Given the description of an element on the screen output the (x, y) to click on. 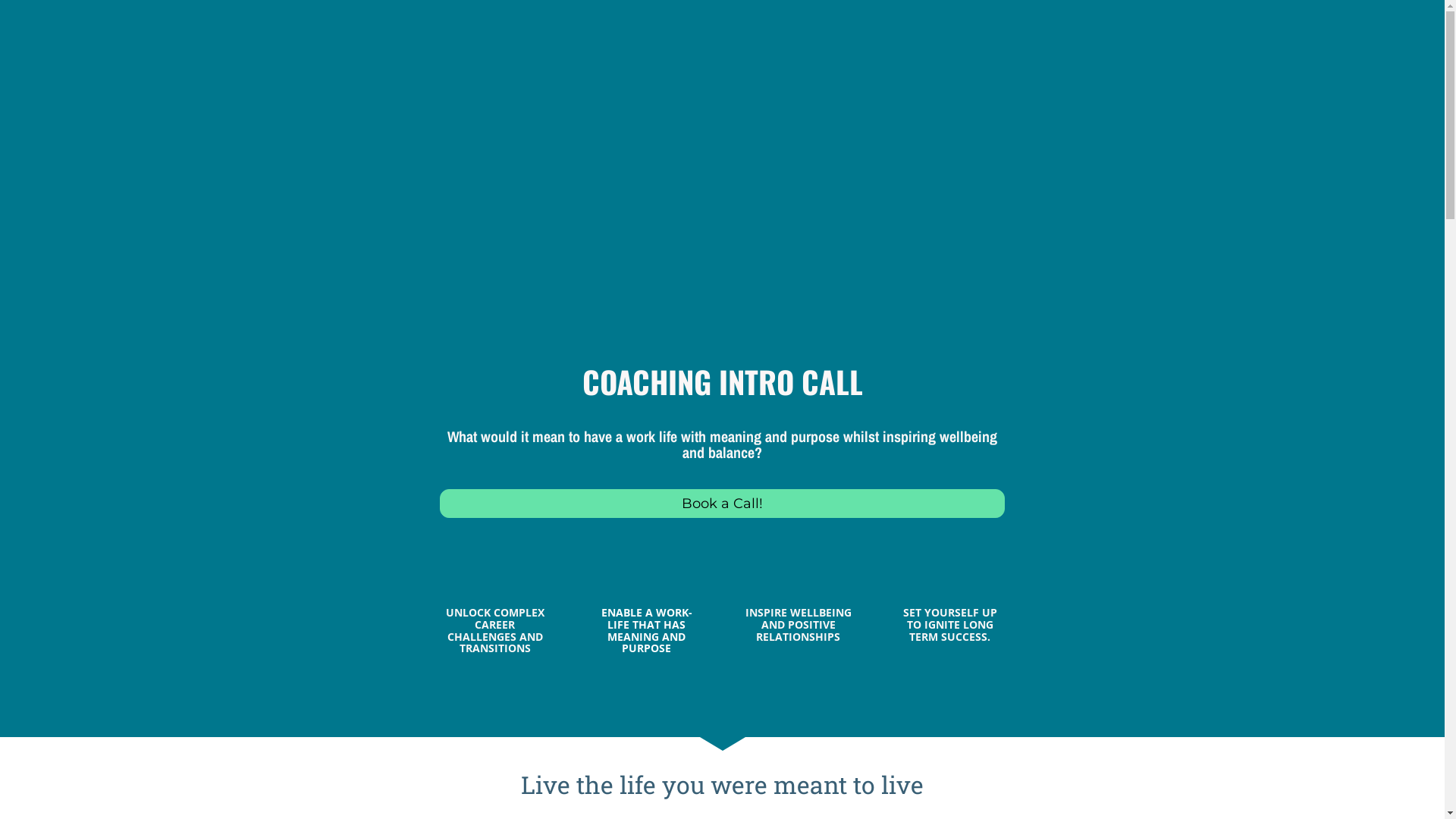
Book a Call! Element type: text (722, 503)
